Given the description of an element on the screen output the (x, y) to click on. 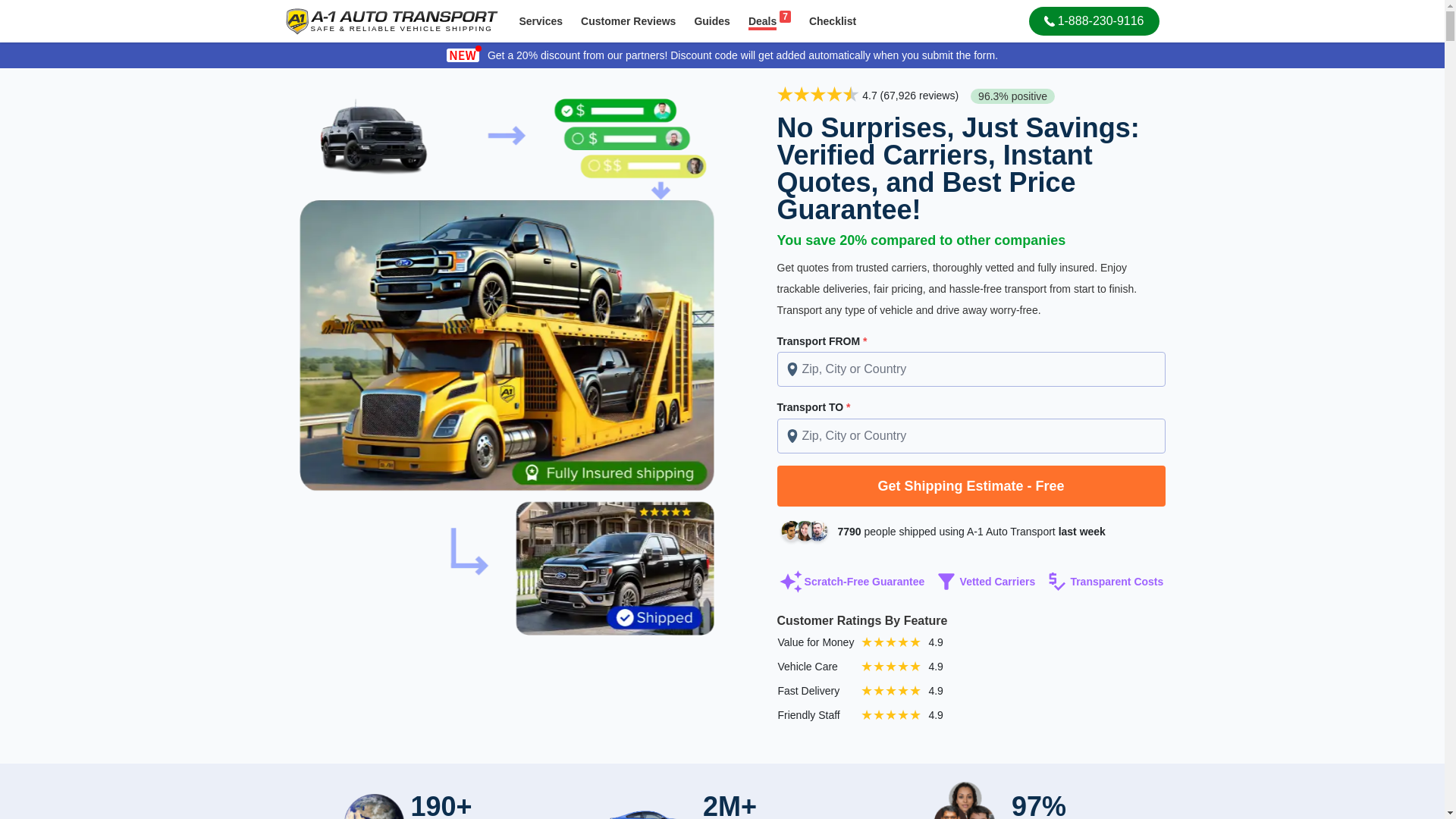
Browse Deals (769, 20)
Browse Guides (711, 20)
1-888-230-9116 (1093, 21)
Services (540, 20)
Checklist (831, 20)
Get Shipping Estimate - Free (769, 20)
Shipping Checklist (970, 486)
Customer Reviews (831, 20)
Services (628, 20)
